Given the description of an element on the screen output the (x, y) to click on. 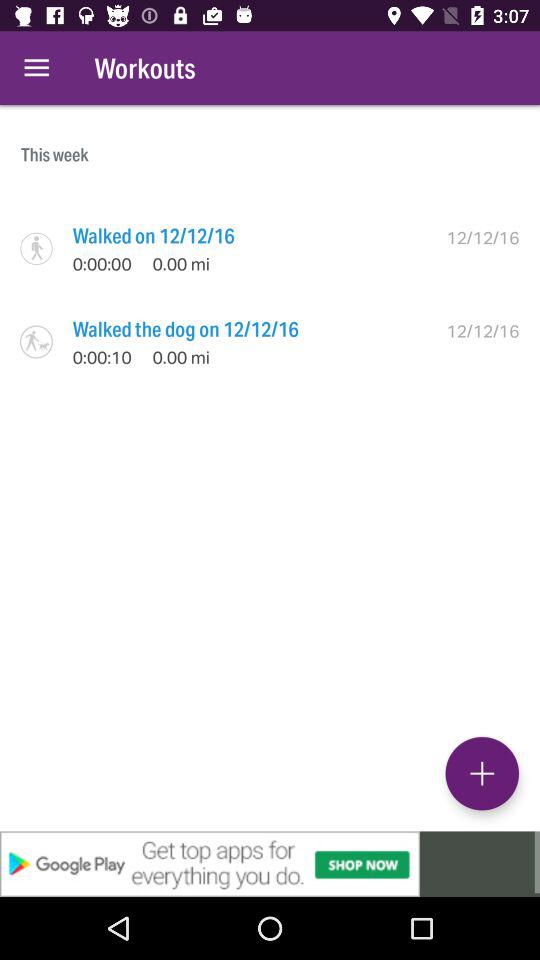
add workout information (482, 773)
